Given the description of an element on the screen output the (x, y) to click on. 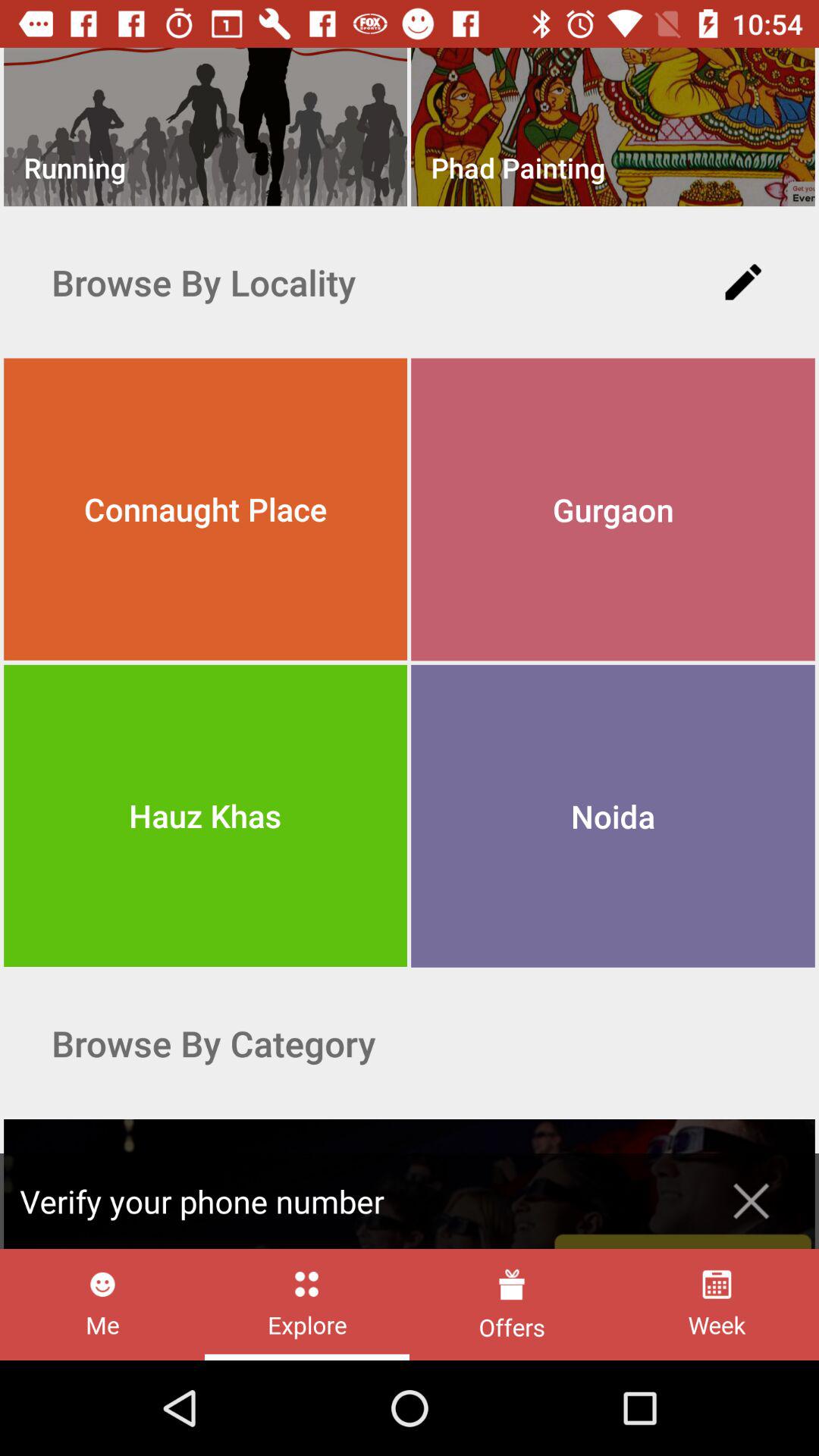
tap icon to the right of me item (306, 1304)
